Given the description of an element on the screen output the (x, y) to click on. 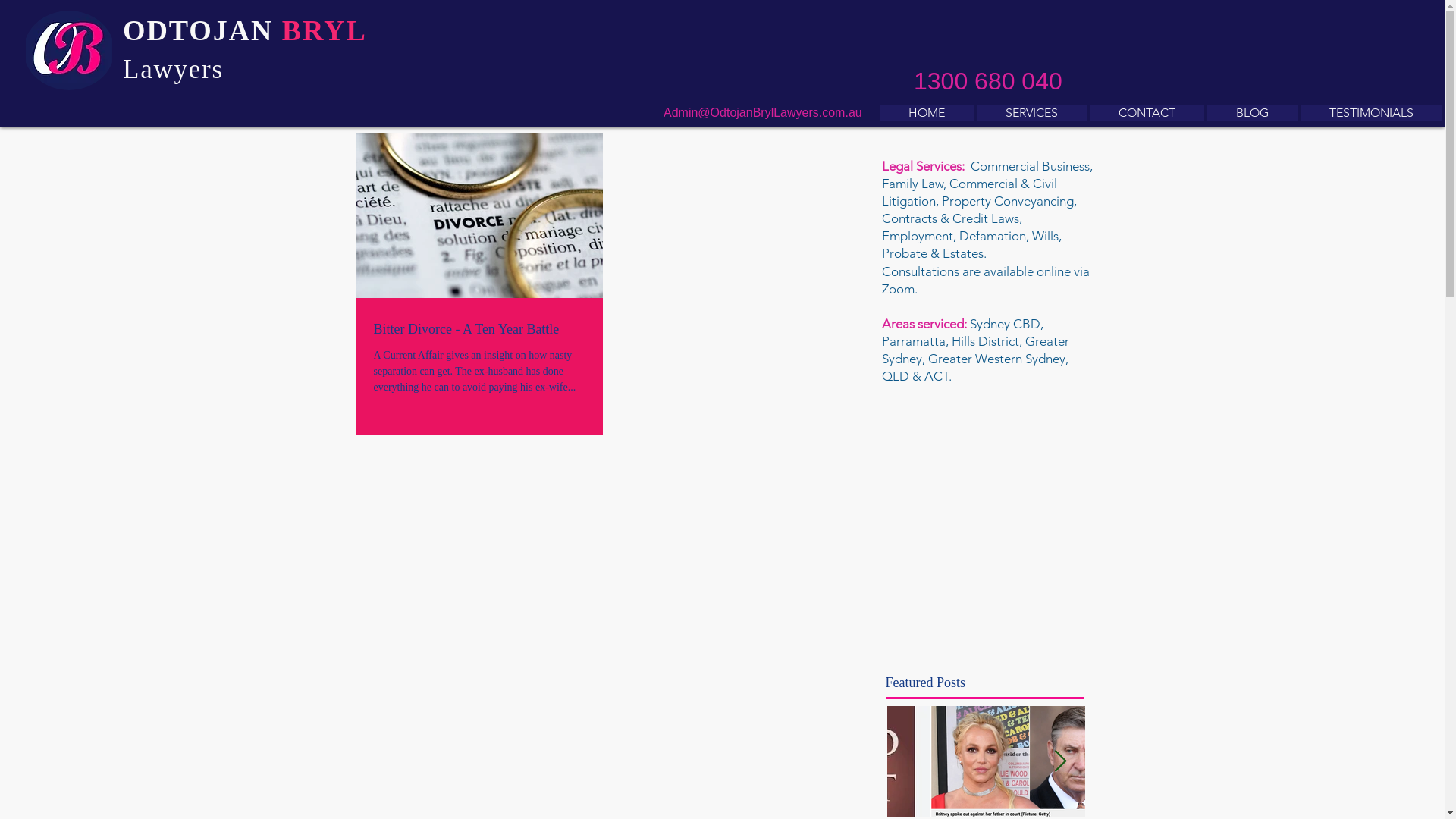
obl2014_BB.jpg Element type: hover (68, 50)
BLOG Element type: text (1252, 112)
SERVICES Element type: text (1031, 112)
HOME Element type: text (926, 112)
obl2014_BB.jpg Element type: hover (403, 37)
Admin@OdtojanBrylLawyers.com.au Element type: text (762, 112)
TESTIMONIALS Element type: text (1371, 112)
CONTACT Element type: text (1146, 112)
Bitter Divorce - A Ten Year Battle Element type: text (478, 329)
